Given the description of an element on the screen output the (x, y) to click on. 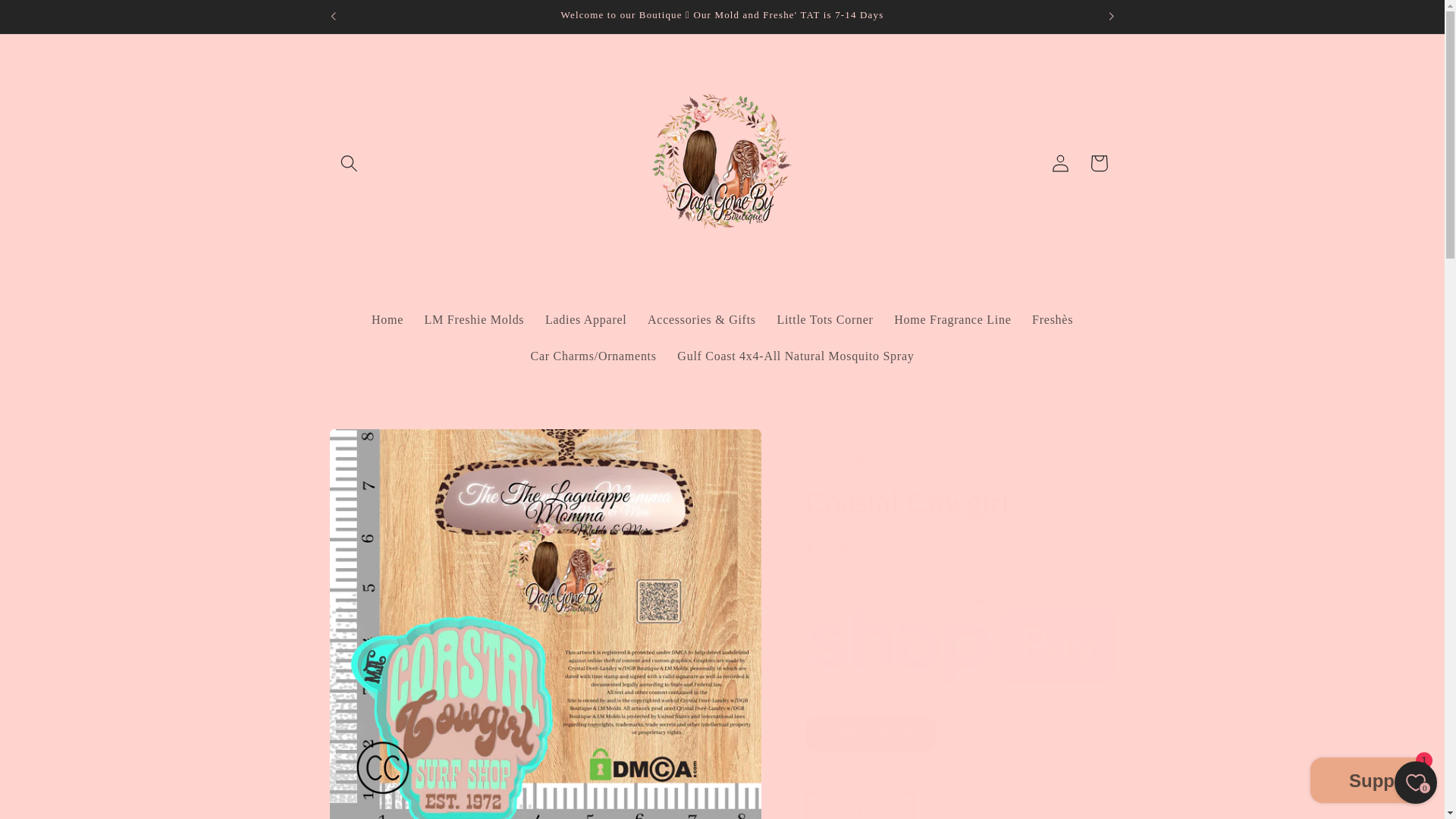
Skip to content (51, 19)
LM Freshie Molds (473, 320)
Add to Wishlist (870, 734)
Little Tots Corner (825, 320)
Home Fragrance Line (952, 320)
Shipping (893, 571)
Ladies Apparel (585, 320)
Gulf Coast 4x4-All Natural Mosquito Spray (795, 356)
Shopify online store chat (1369, 781)
Skip to product information (381, 447)
Home (387, 320)
Log in (1060, 163)
Cart (1099, 163)
1 (860, 805)
